Given the description of an element on the screen output the (x, y) to click on. 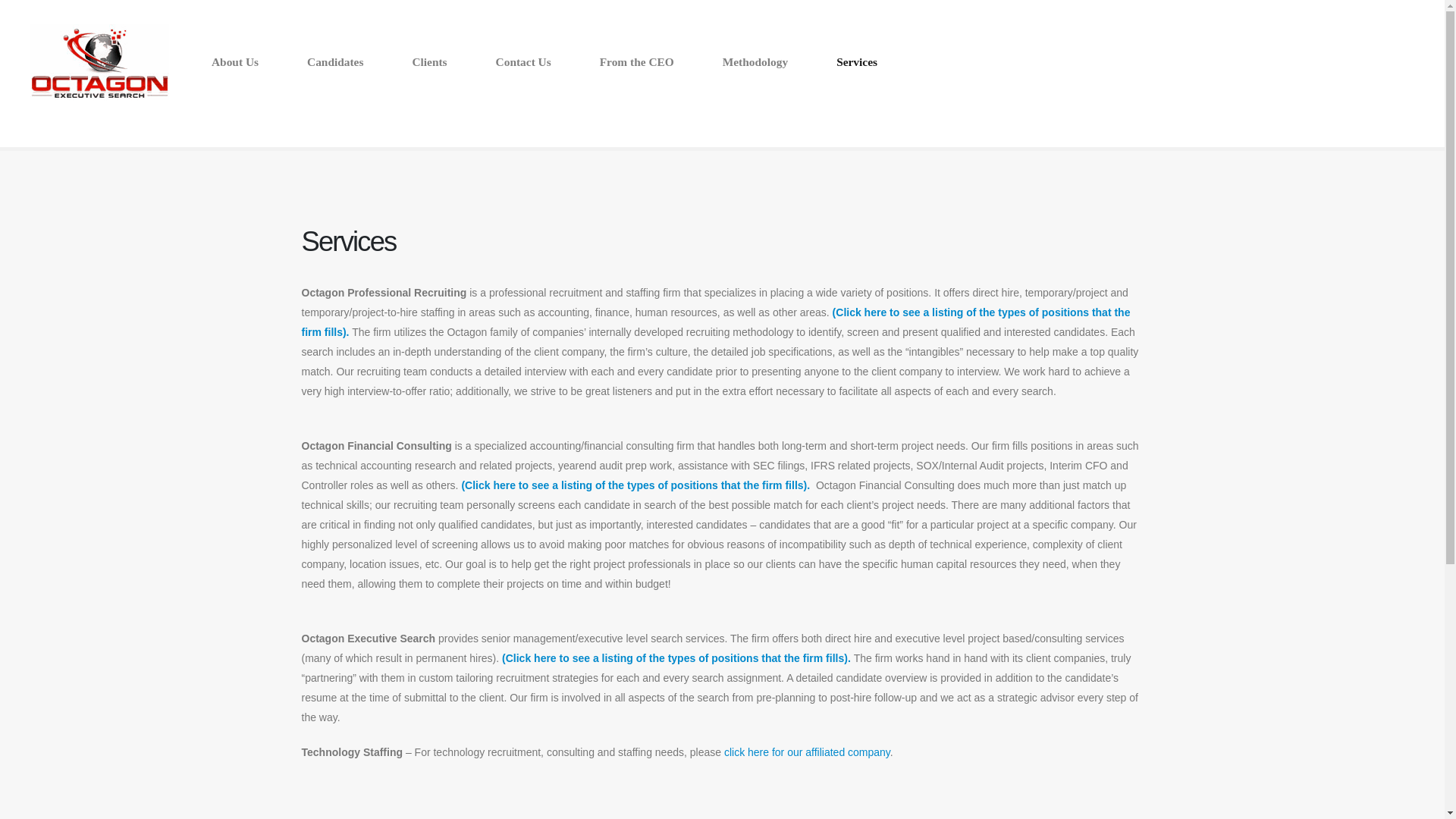
From the CEO (636, 61)
click here for our affiliated company (806, 752)
Services (856, 61)
About Us (234, 61)
Candidates (335, 61)
Contact Us (523, 61)
Clients (429, 61)
Methodology (754, 61)
